Given the description of an element on the screen output the (x, y) to click on. 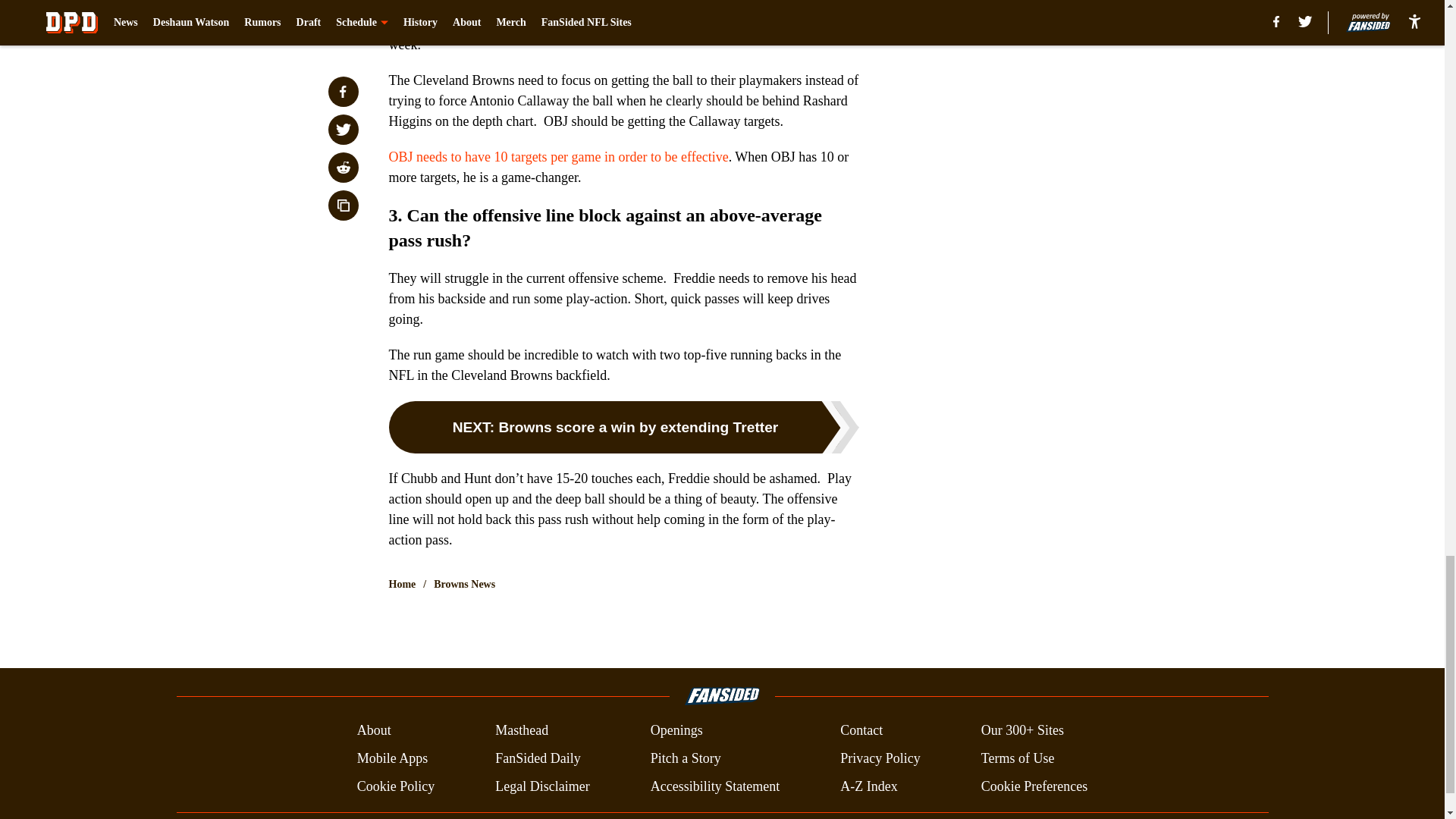
Home (401, 584)
About (373, 730)
Openings (676, 730)
Browns News (464, 584)
Masthead (521, 730)
NEXT: Browns score a win by extending Tretter (623, 427)
Contact (861, 730)
Mobile Apps (392, 758)
FanSided Daily (537, 758)
